Given the description of an element on the screen output the (x, y) to click on. 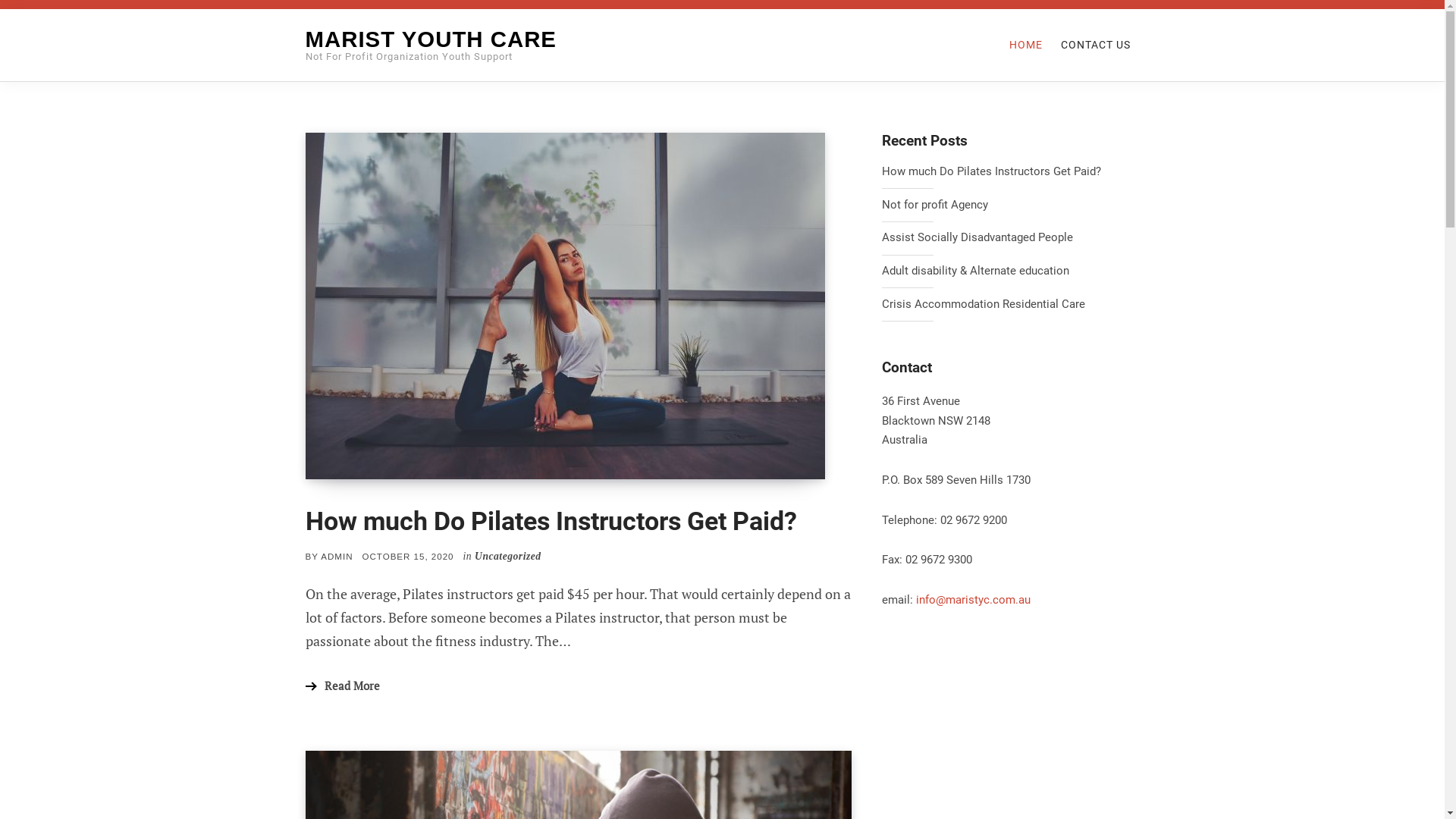
HOME Element type: text (1024, 44)
Assist Socially Disadvantaged People Element type: text (1010, 237)
info@maristyc.com.au Element type: text (973, 599)
How much Do Pilates Instructors Get Paid? Element type: text (550, 521)
OCTOBER 15, 2020 Element type: text (407, 556)
ADMIN Element type: text (336, 556)
Not for profit Agency Element type: text (1010, 205)
Crisis Accommodation Residential Care Element type: text (1010, 304)
Adult disability & Alternate education Element type: text (1010, 271)
CONTACT US Element type: text (1094, 44)
MARIST YOUTH CARE Element type: text (429, 38)
How much Do Pilates Instructors Get Paid? Element type: text (1010, 171)
Read More Element type: text (341, 686)
